Given the description of an element on the screen output the (x, y) to click on. 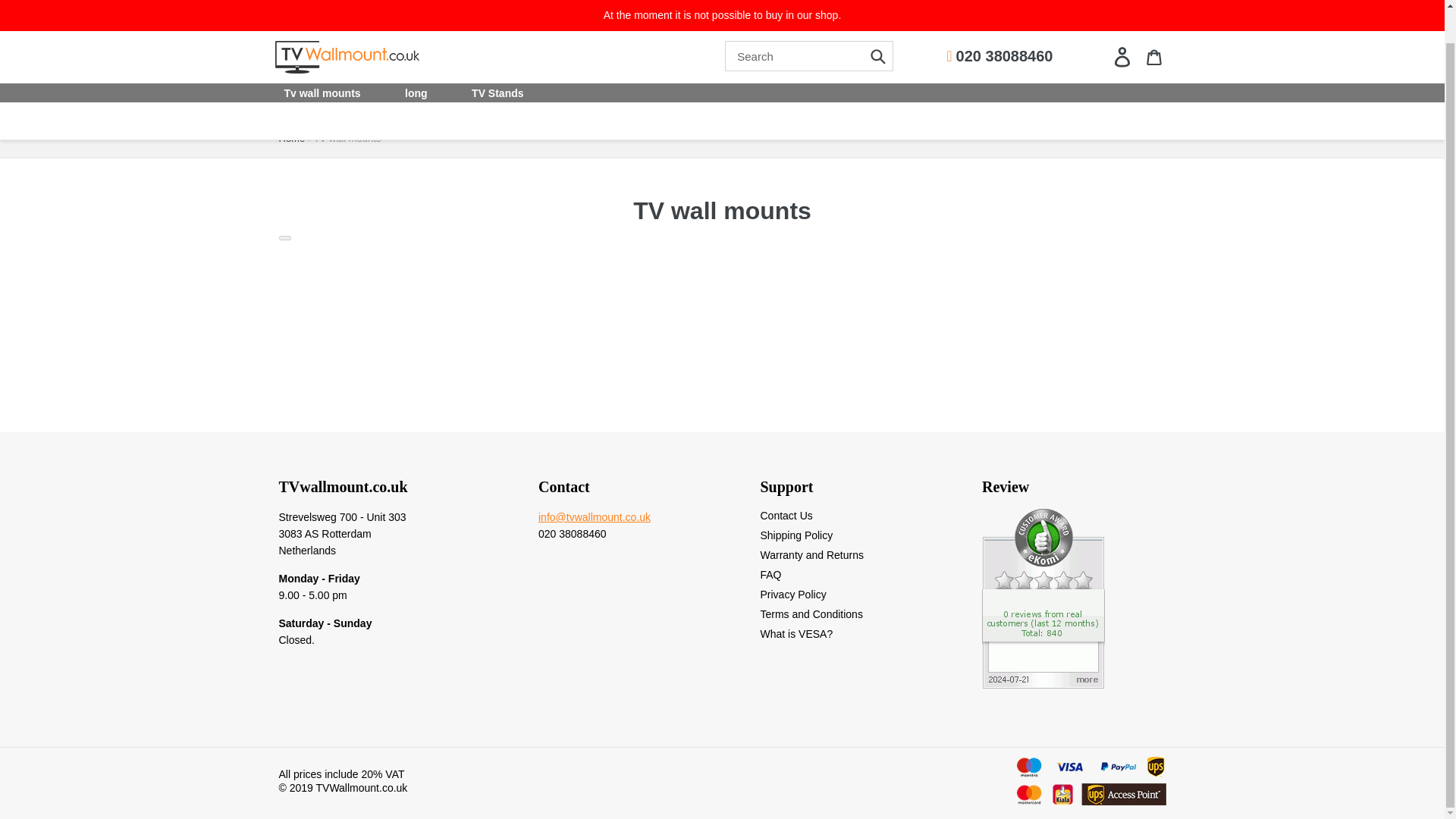
long (416, 58)
Shipping Policy (796, 535)
Log in (1121, 21)
TV Stands (497, 58)
Warranty and Returns (811, 554)
020 38088460 (999, 21)
Tv wall mounts (322, 58)
Cart (1153, 21)
Home (292, 138)
What is VESA? (796, 633)
Privacy Policy (792, 594)
FAQ (770, 574)
Contact Us (786, 515)
Terms and Conditions (810, 613)
Customer review:  (1043, 684)
